Given the description of an element on the screen output the (x, y) to click on. 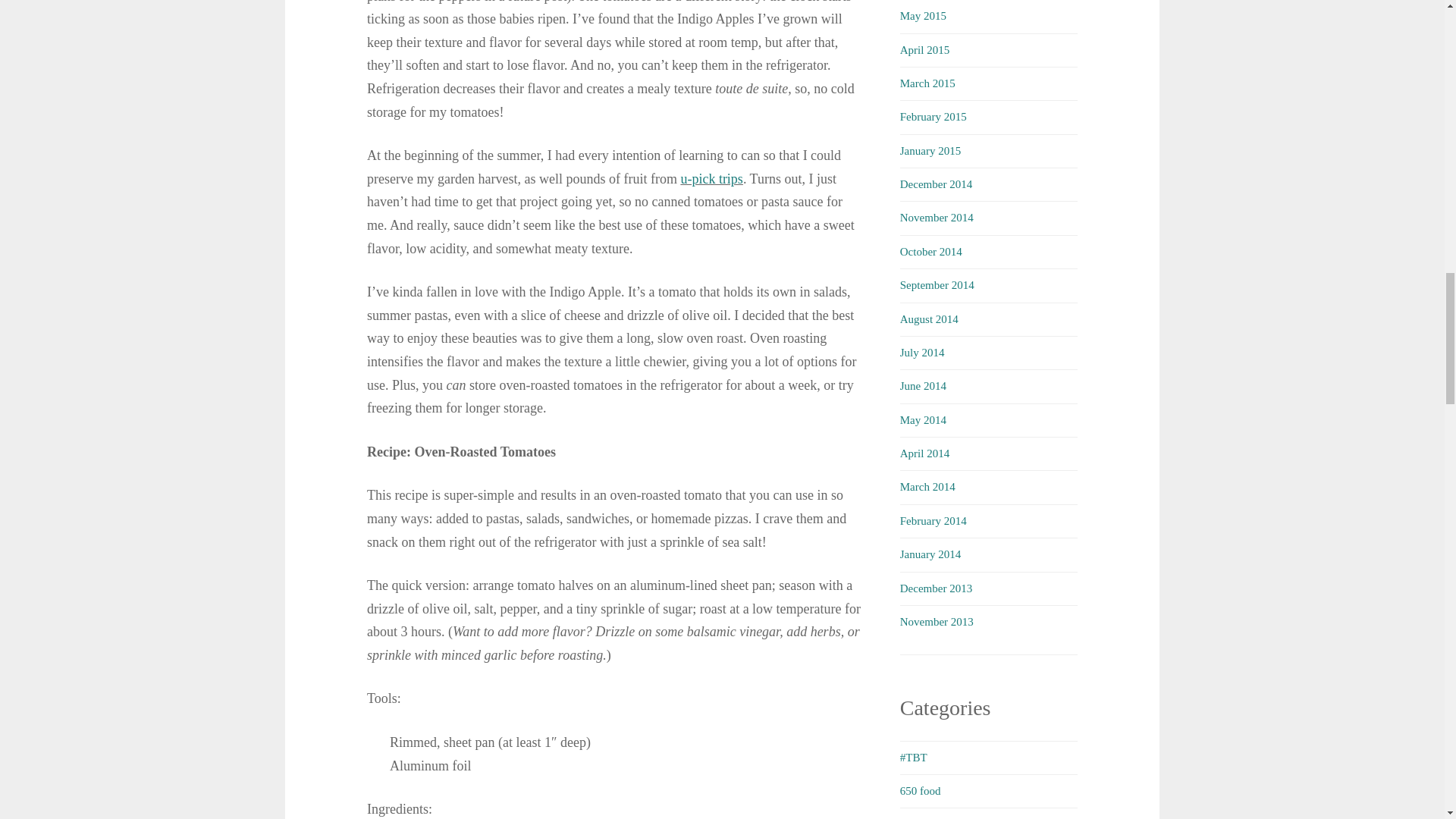
Field Trip: Swanton Berry Farm (710, 178)
u-pick trips (710, 178)
